Given the description of an element on the screen output the (x, y) to click on. 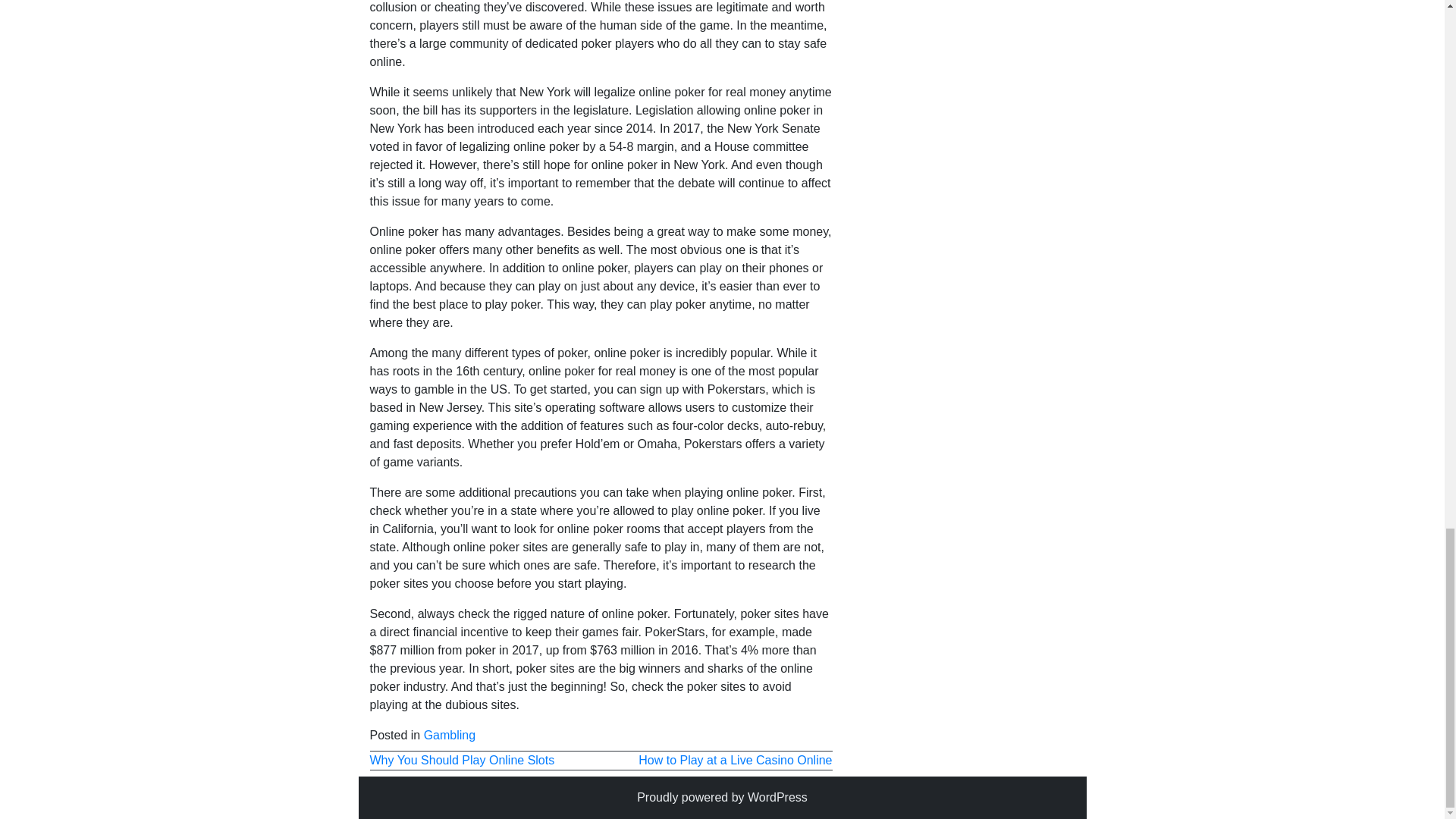
Why You Should Play Online Slots (461, 759)
Gambling (449, 735)
